Given the description of an element on the screen output the (x, y) to click on. 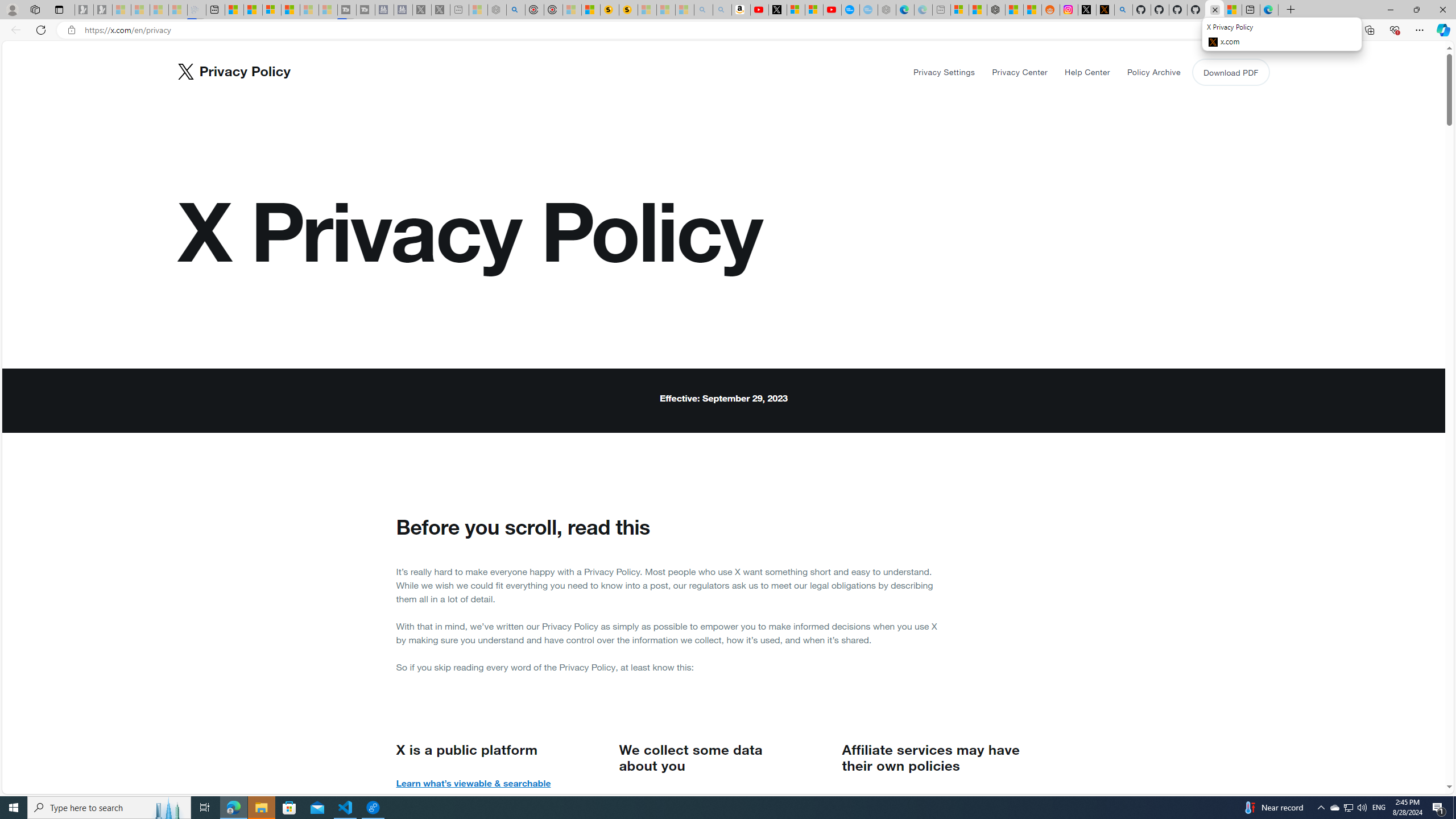
Michelle Starr, Senior Journalist at ScienceAlert (628, 9)
amazon - Search - Sleeping (702, 9)
Opinion: Op-Ed and Commentary - USA TODAY (850, 9)
github - Search (1123, 9)
Privacy Settings (944, 72)
Microsoft account | Microsoft Account Privacy Settings (960, 9)
